Given the description of an element on the screen output the (x, y) to click on. 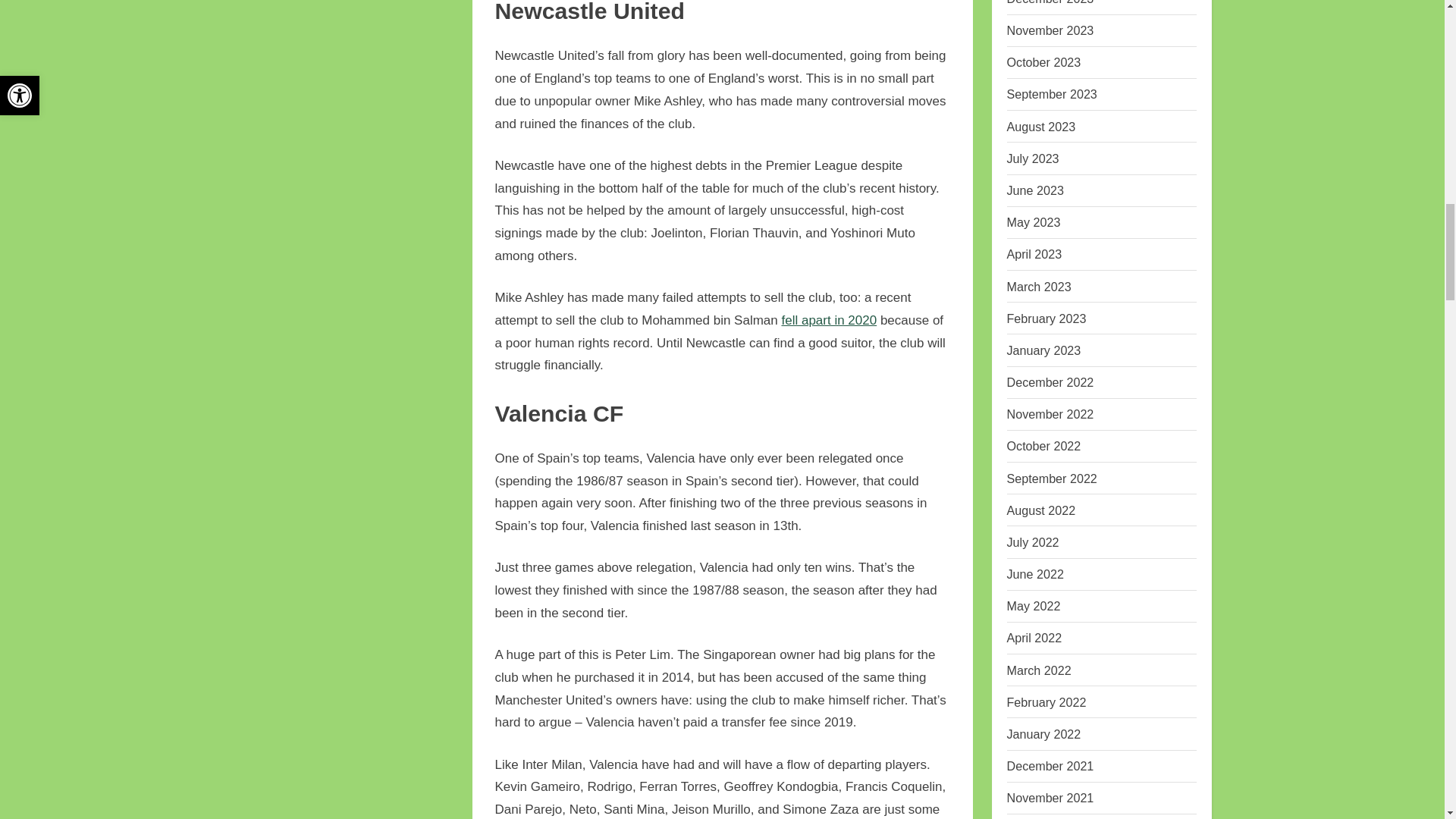
Newcastle United Bid Falls Through (828, 319)
fell apart in 2020 (828, 319)
